Given the description of an element on the screen output the (x, y) to click on. 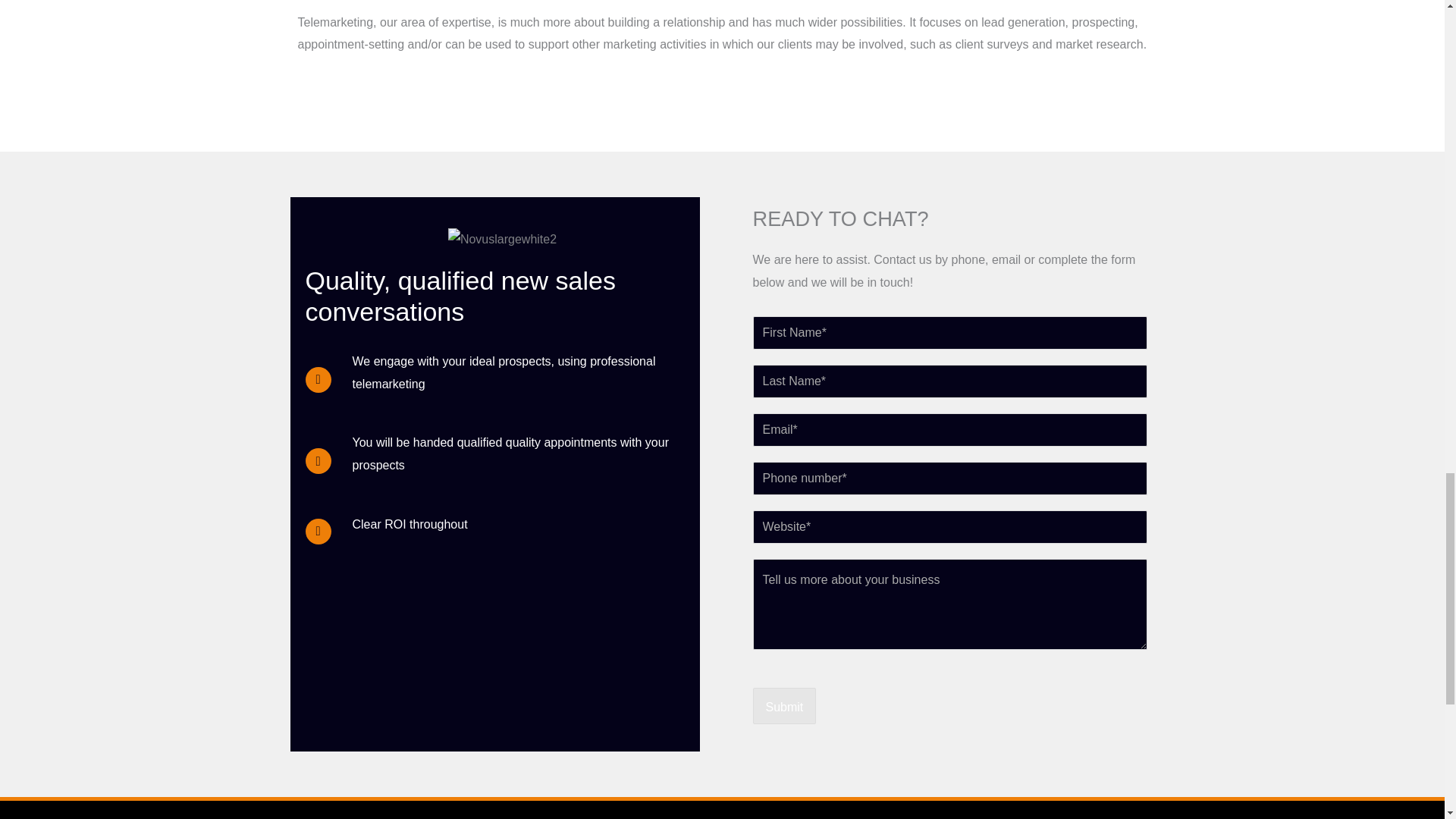
Novuslargewhite2 (502, 239)
